Given the description of an element on the screen output the (x, y) to click on. 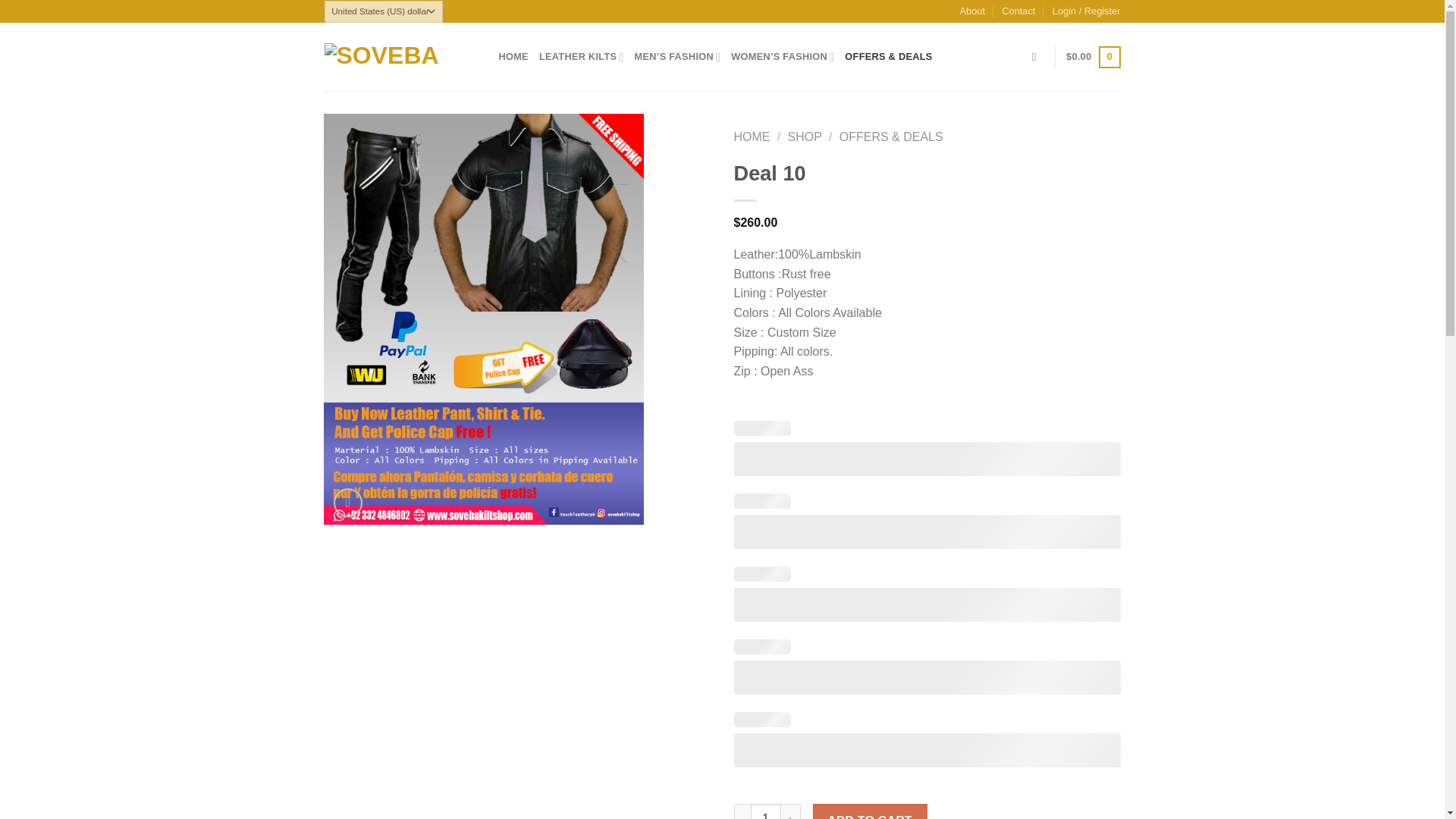
Soveba Kilt Shop - Leather Shop (400, 56)
- (742, 811)
Cart (1092, 57)
About (972, 11)
HOME (513, 56)
Zoom (347, 502)
1 (765, 811)
Contact (1018, 11)
Login (1086, 11)
LEATHER KILTS (581, 56)
